Given the description of an element on the screen output the (x, y) to click on. 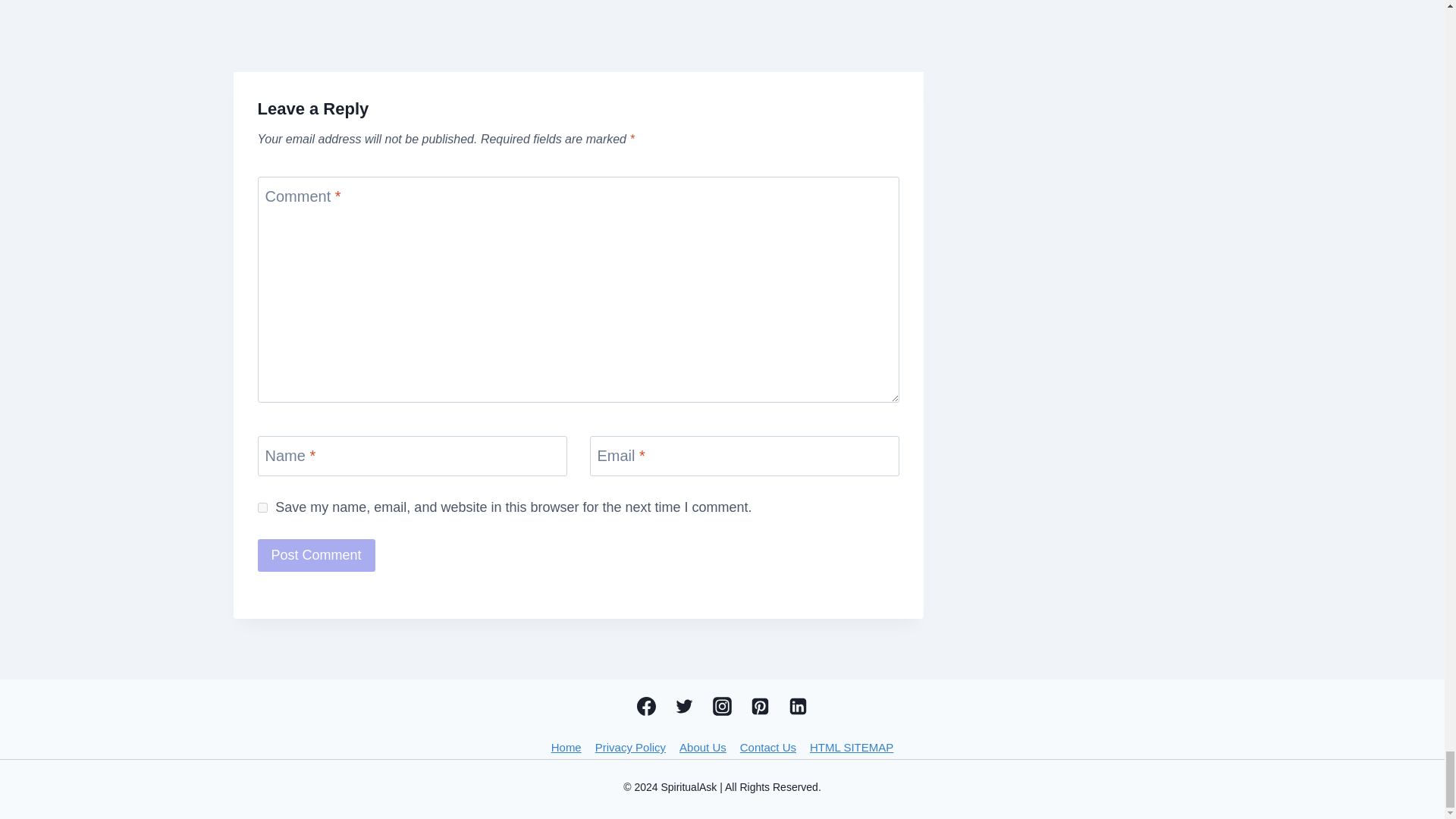
yes (262, 507)
Post Comment (316, 554)
